Given the description of an element on the screen output the (x, y) to click on. 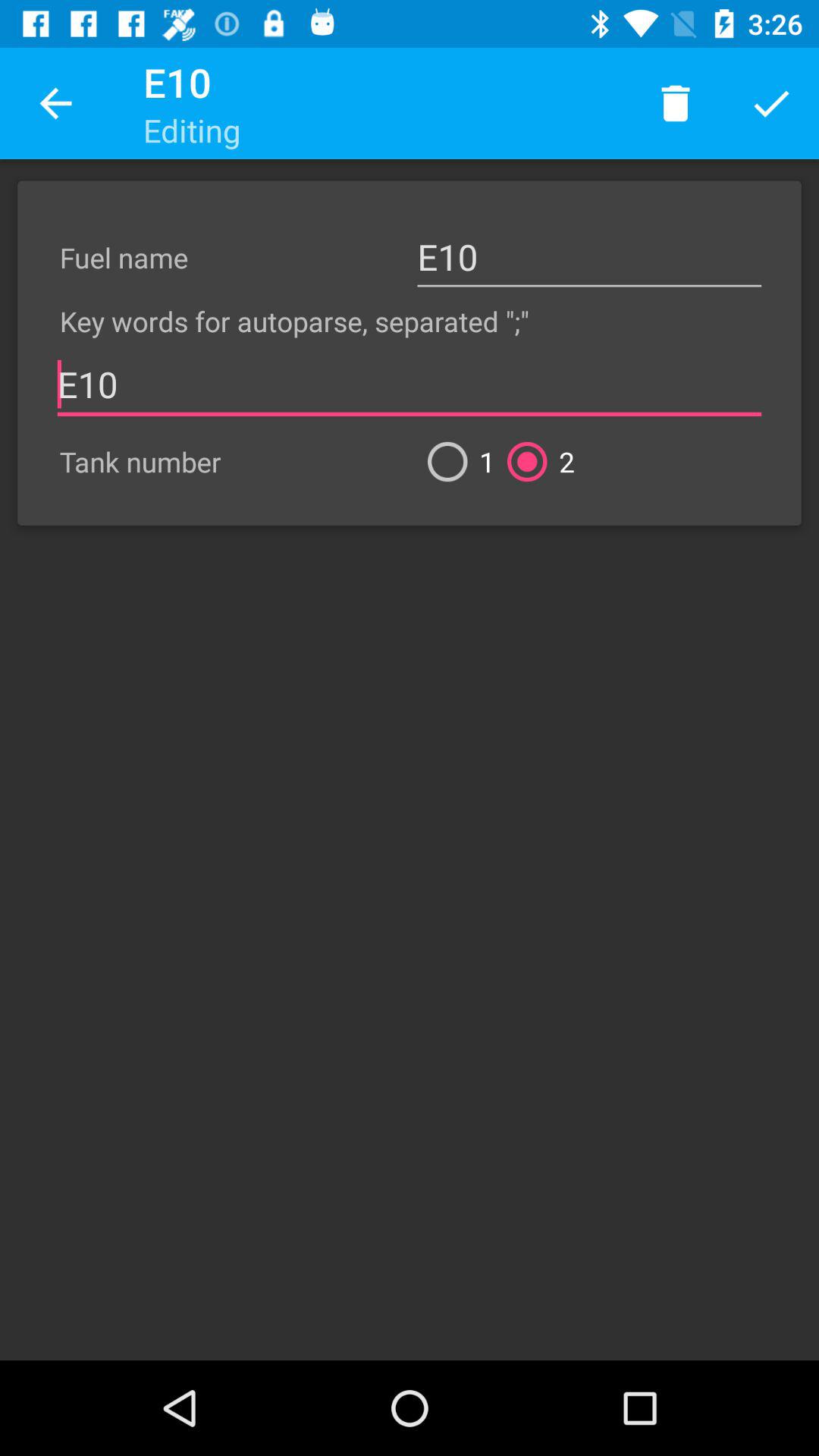
swipe to 1 icon (455, 461)
